Given the description of an element on the screen output the (x, y) to click on. 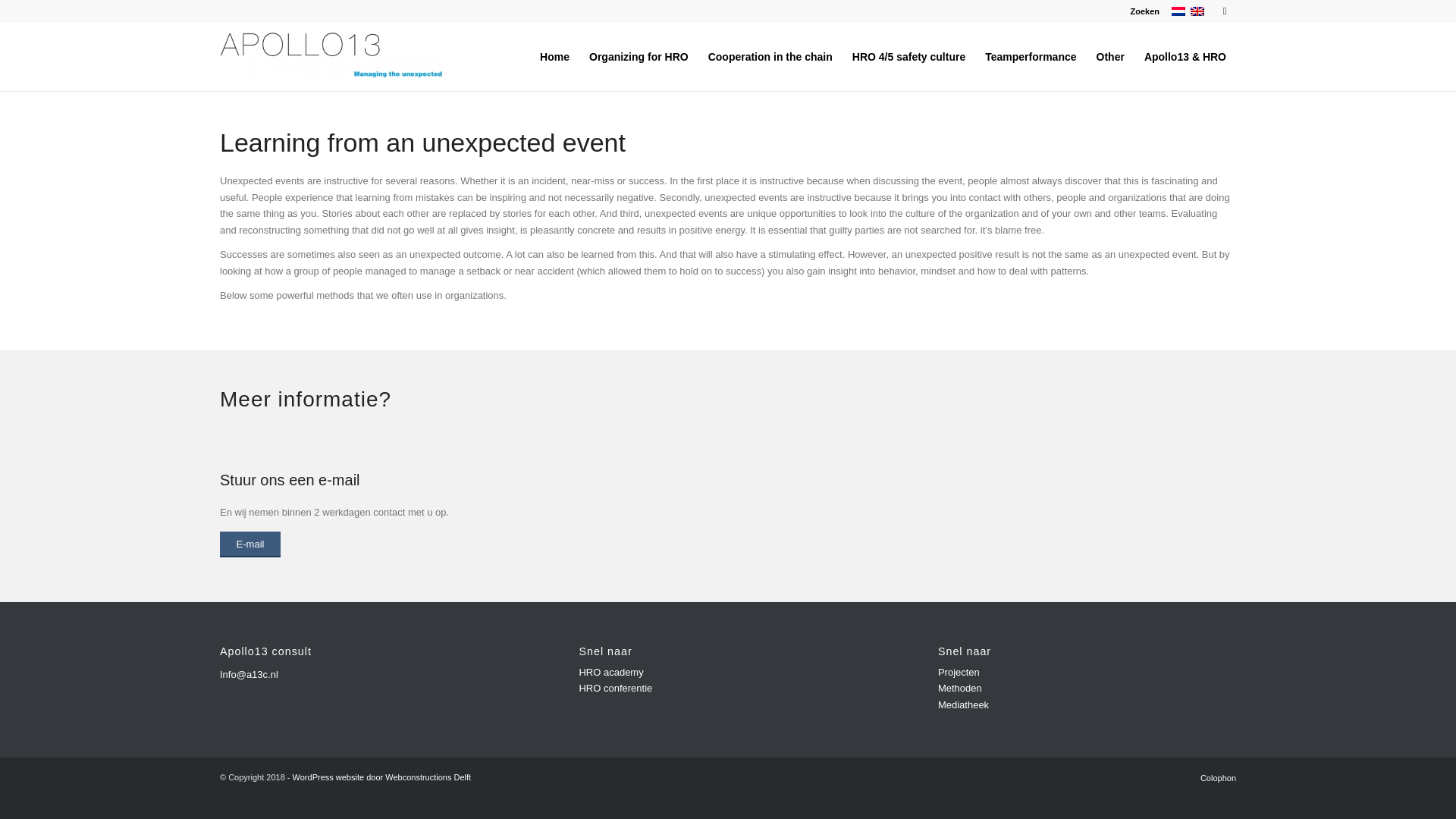
Organizing for HRO (638, 56)
E-mail (250, 544)
Zoeken (1143, 11)
Cooperation in the chain (770, 56)
Colophon (1217, 777)
WordPress website door Webconstructions Delft (381, 777)
Nederlands (1178, 10)
HRO conferentie (615, 687)
Teamperformance (1030, 56)
HRO academy (610, 672)
English (1197, 10)
Mediatheek (962, 704)
Methoden (959, 687)
LinkedIn (1224, 11)
Projecten (958, 672)
